Given the description of an element on the screen output the (x, y) to click on. 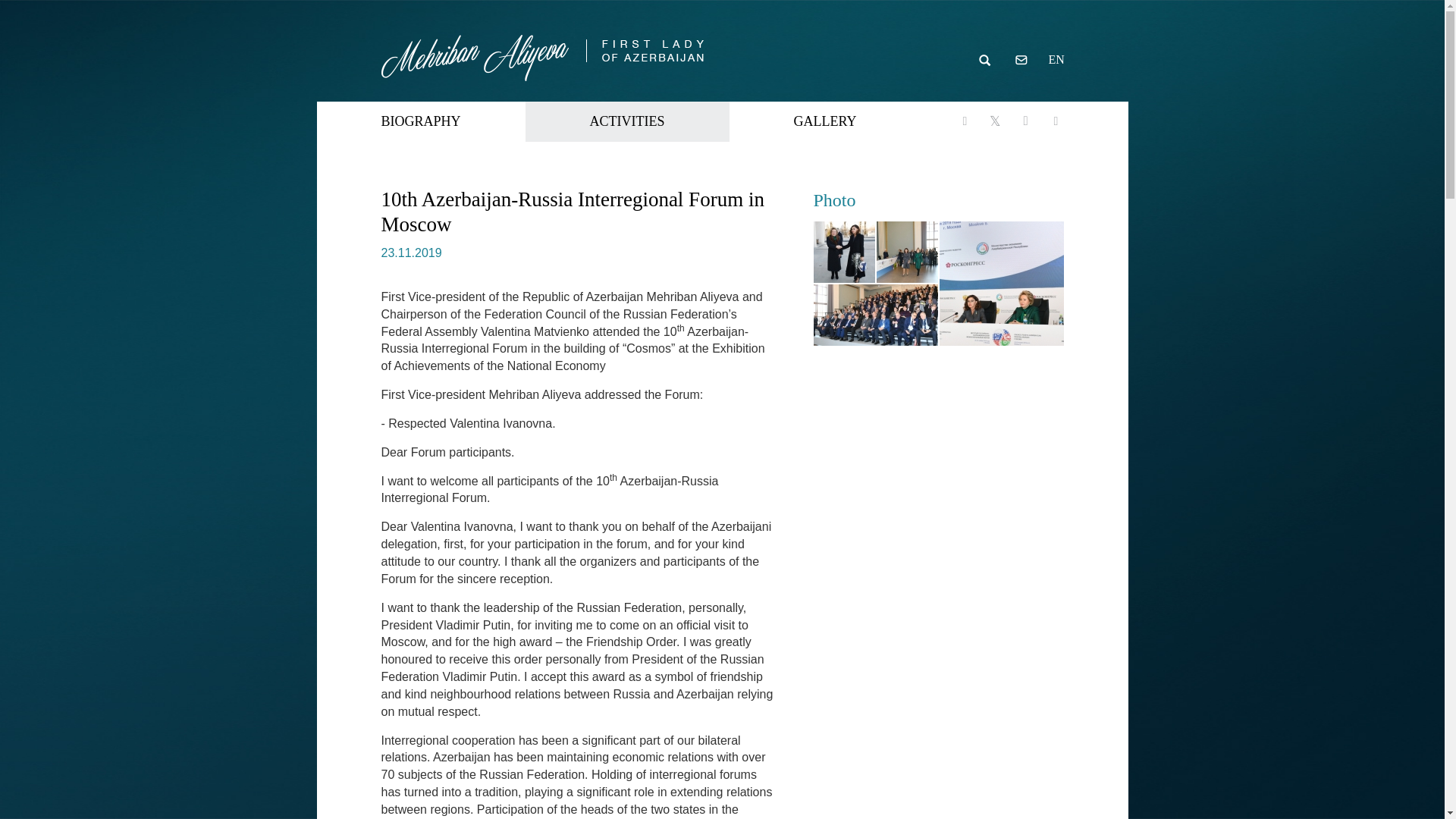
First Lady (541, 50)
Photo (834, 199)
GALLERY (825, 121)
BIOGRAPHY (421, 121)
ACTIVITIES (627, 121)
